Given the description of an element on the screen output the (x, y) to click on. 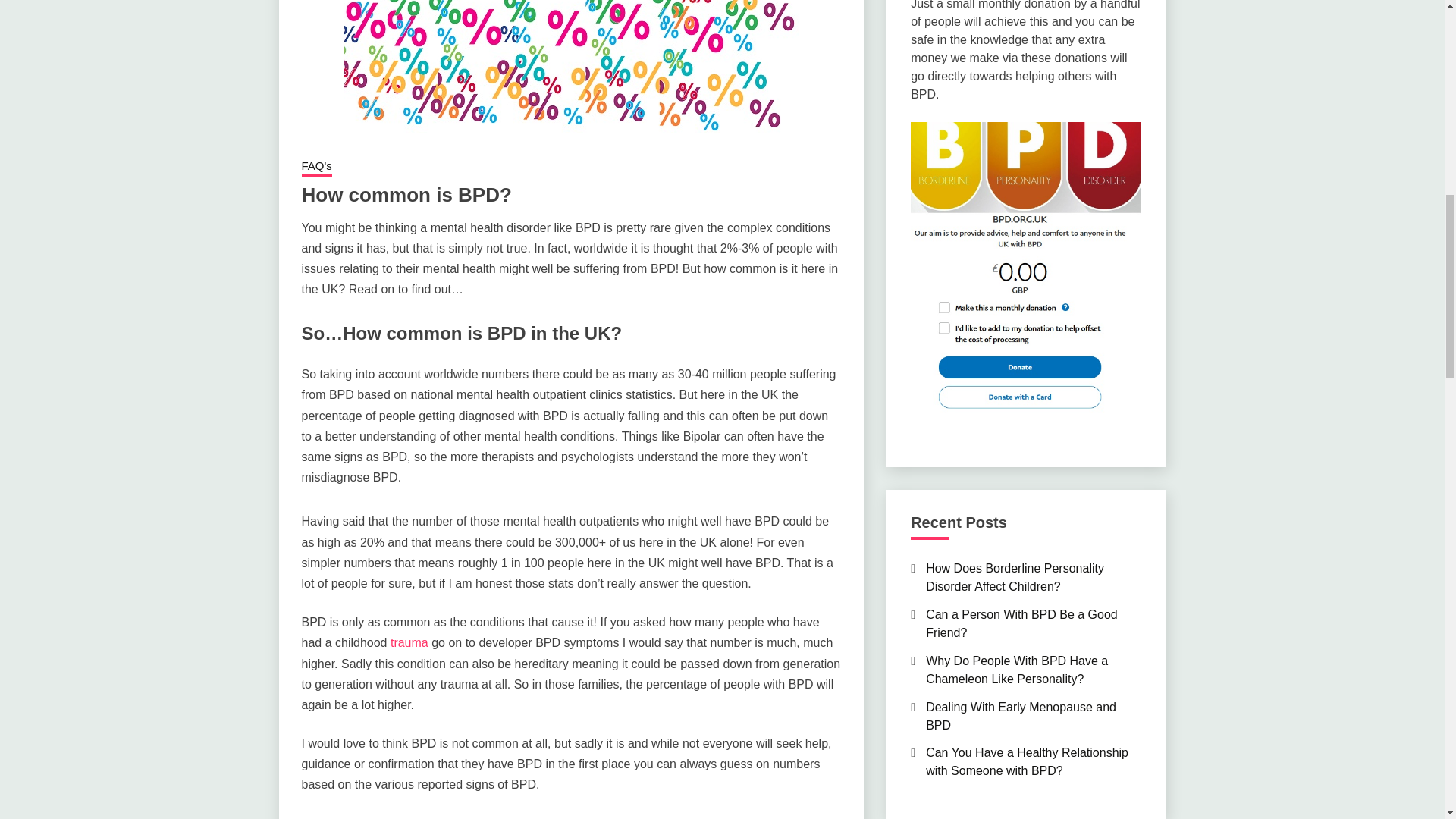
trauma (409, 642)
FAQ's (316, 167)
